Given the description of an element on the screen output the (x, y) to click on. 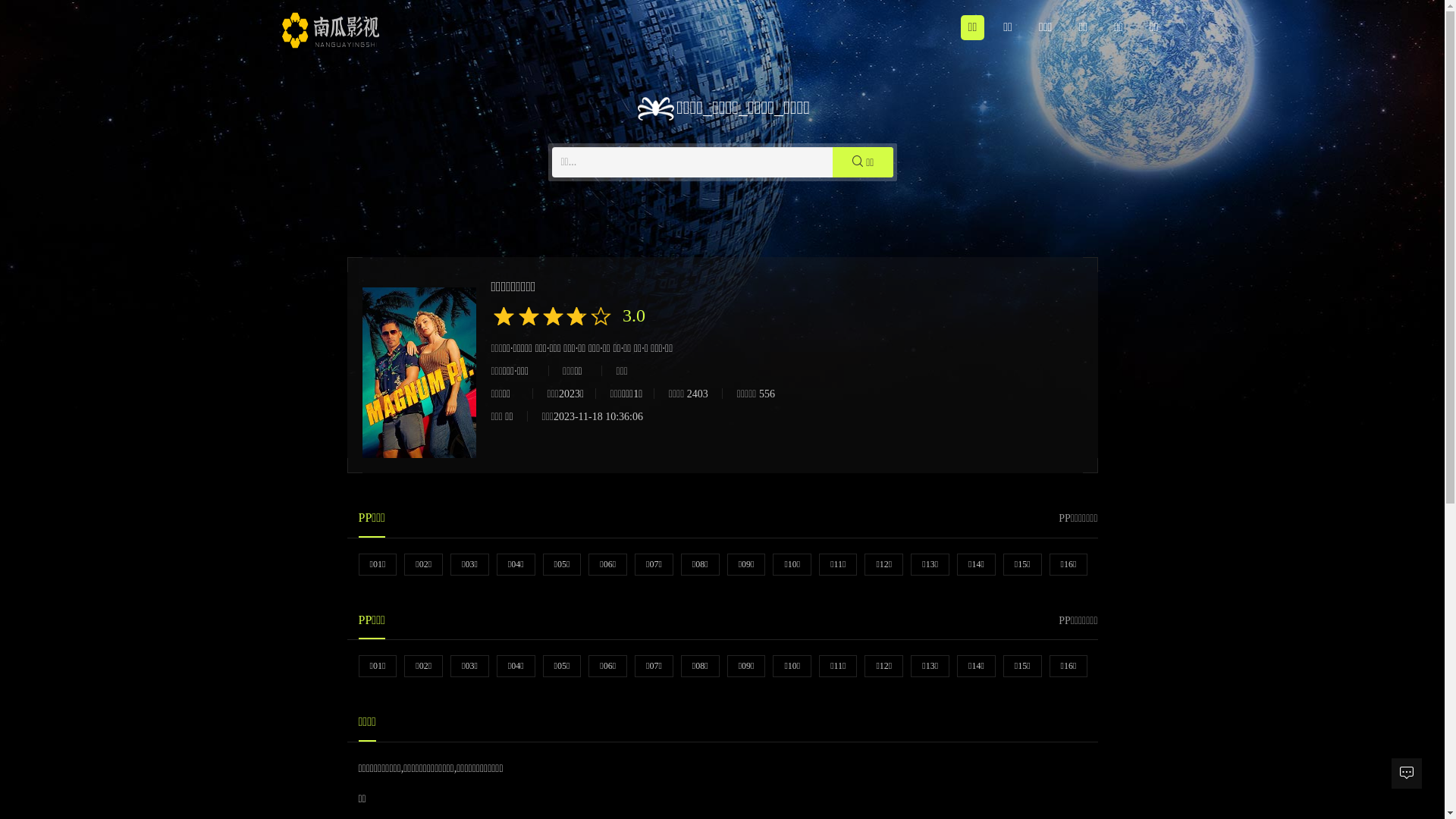
3.0 Element type: text (630, 317)
